Given the description of an element on the screen output the (x, y) to click on. 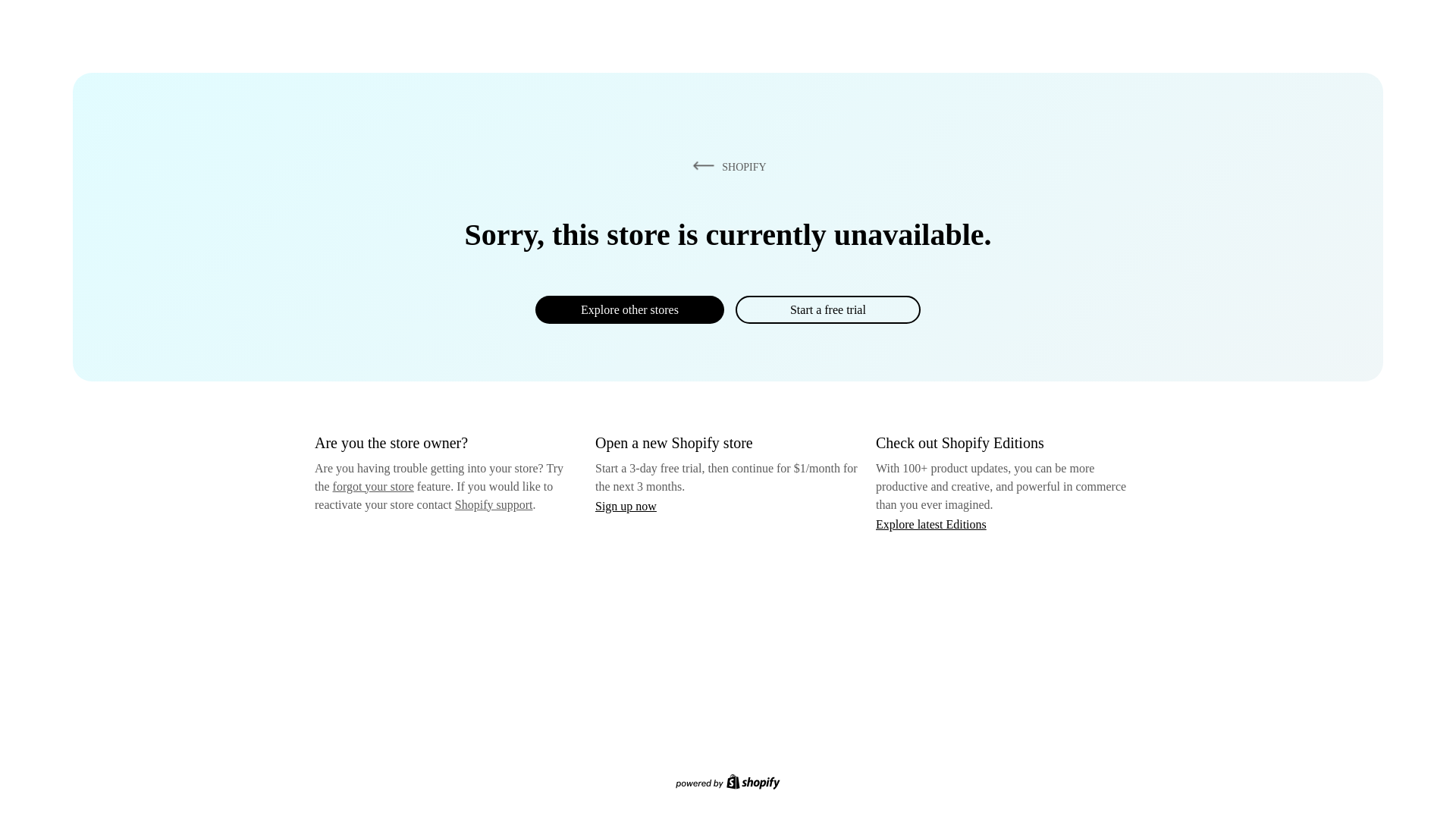
Explore other stores (629, 309)
SHOPIFY (726, 166)
Start a free trial (827, 309)
forgot your store (373, 486)
Sign up now (625, 505)
Shopify support (493, 504)
Explore latest Editions (931, 523)
